Given the description of an element on the screen output the (x, y) to click on. 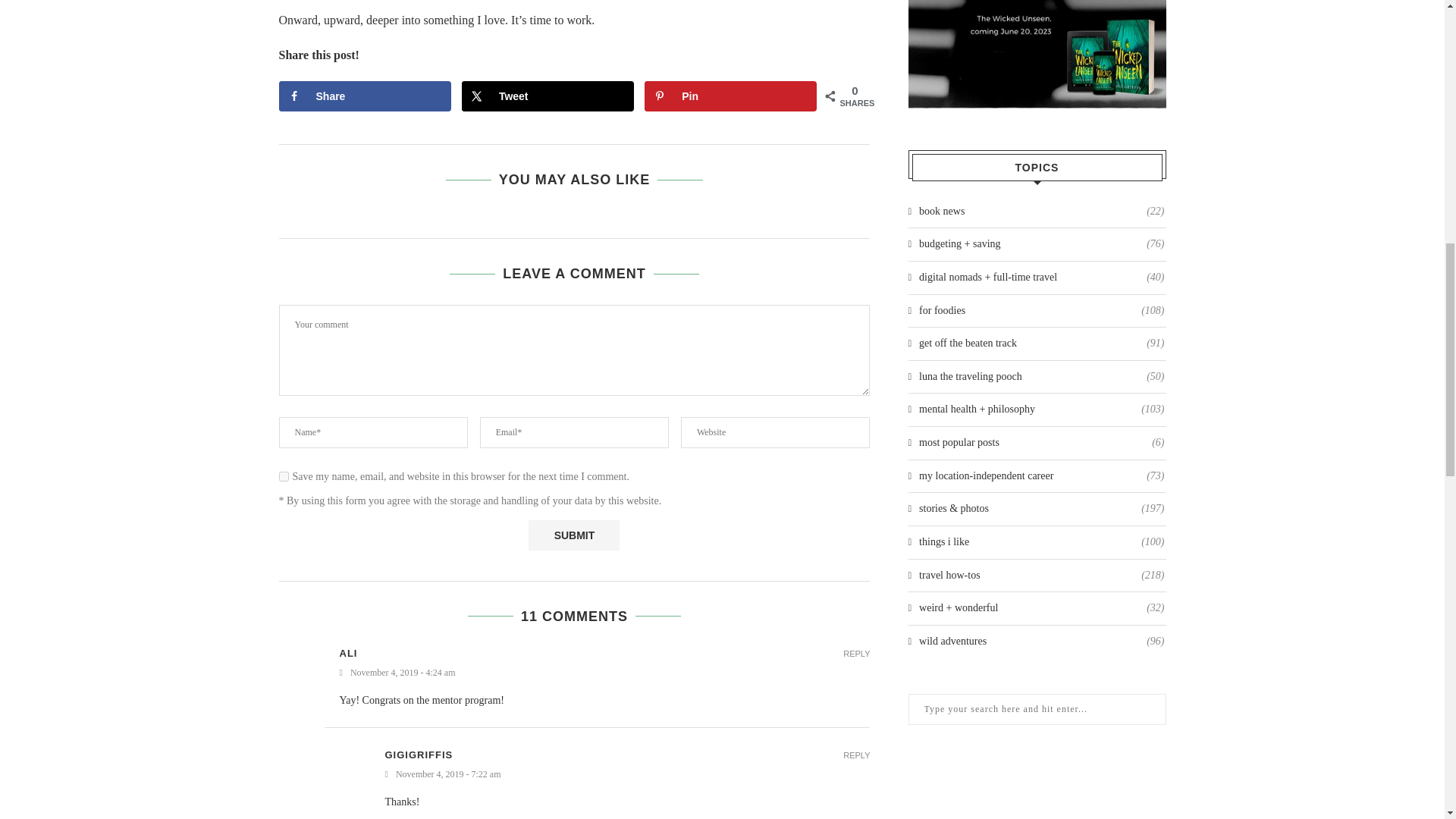
Monday, November 4, 2019, 4:24 am (604, 672)
yes (283, 476)
Monday, November 4, 2019, 7:22 am (627, 774)
Share on Facebook (365, 96)
Save to Pinterest (730, 96)
Submit (574, 535)
Share on X (547, 96)
